Given the description of an element on the screen output the (x, y) to click on. 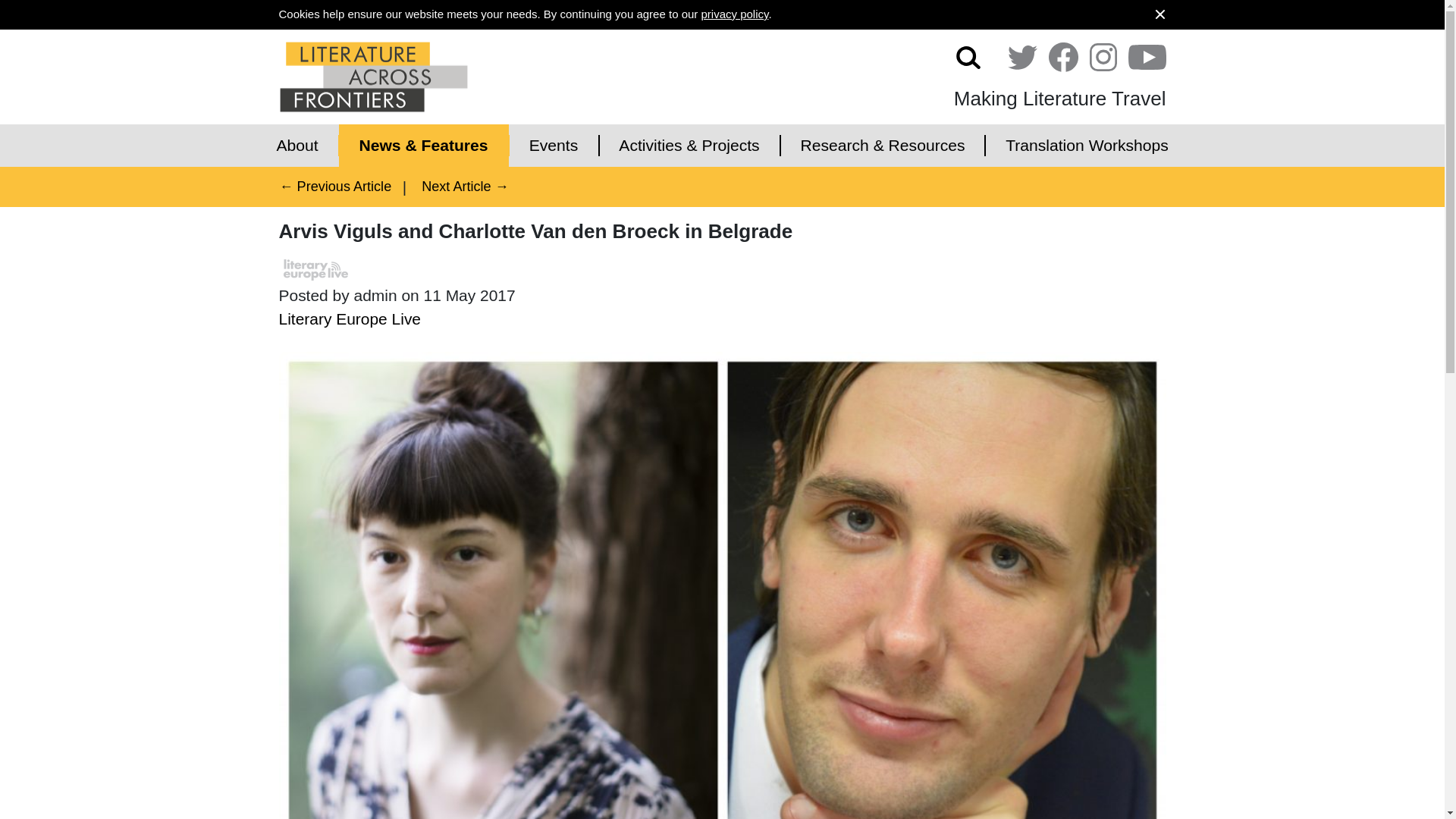
Events (553, 145)
privacy policy (734, 13)
Close (1160, 14)
About (297, 145)
